Given the description of an element on the screen output the (x, y) to click on. 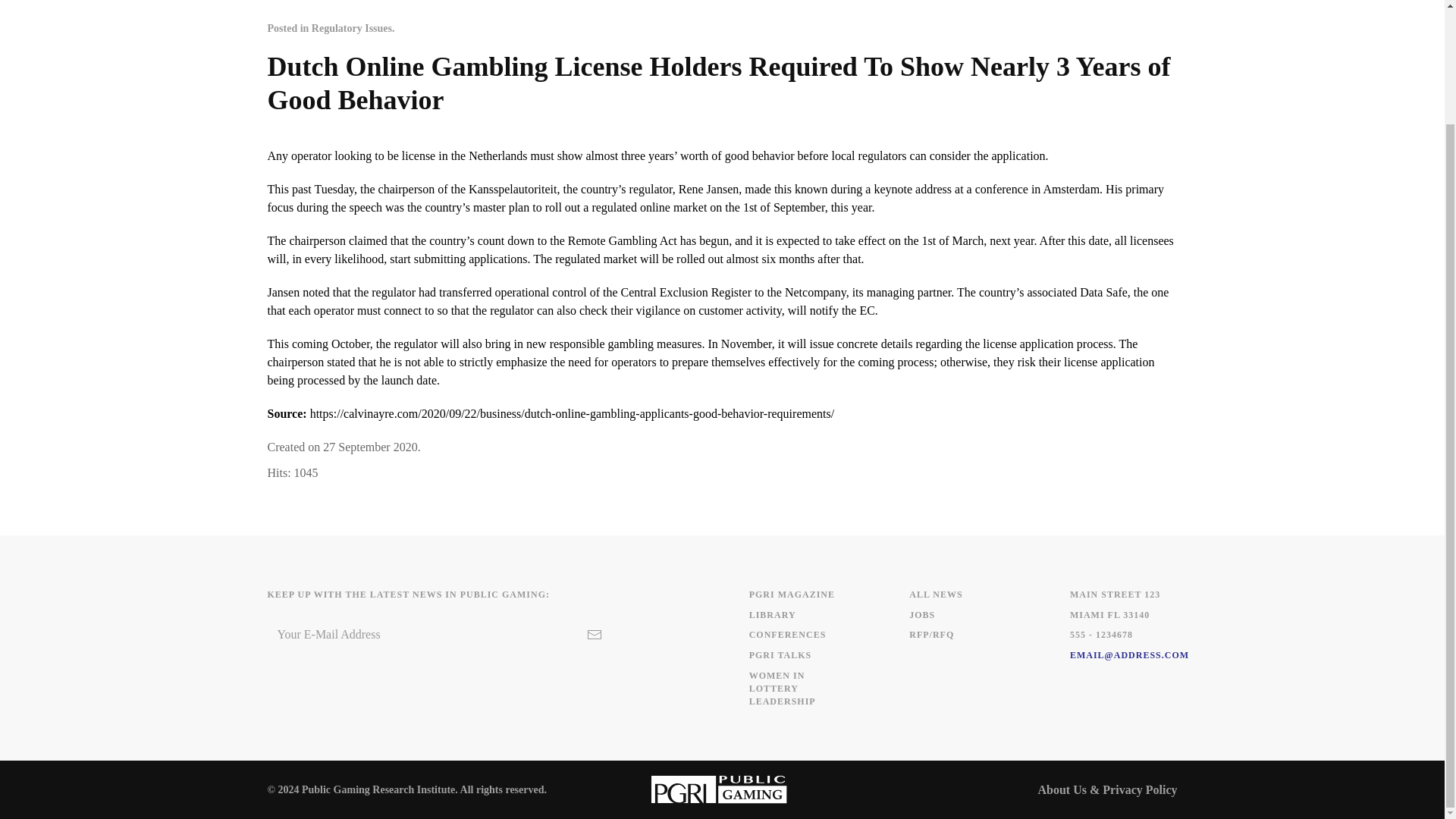
Netherlands online casinos (497, 155)
